Given the description of an element on the screen output the (x, y) to click on. 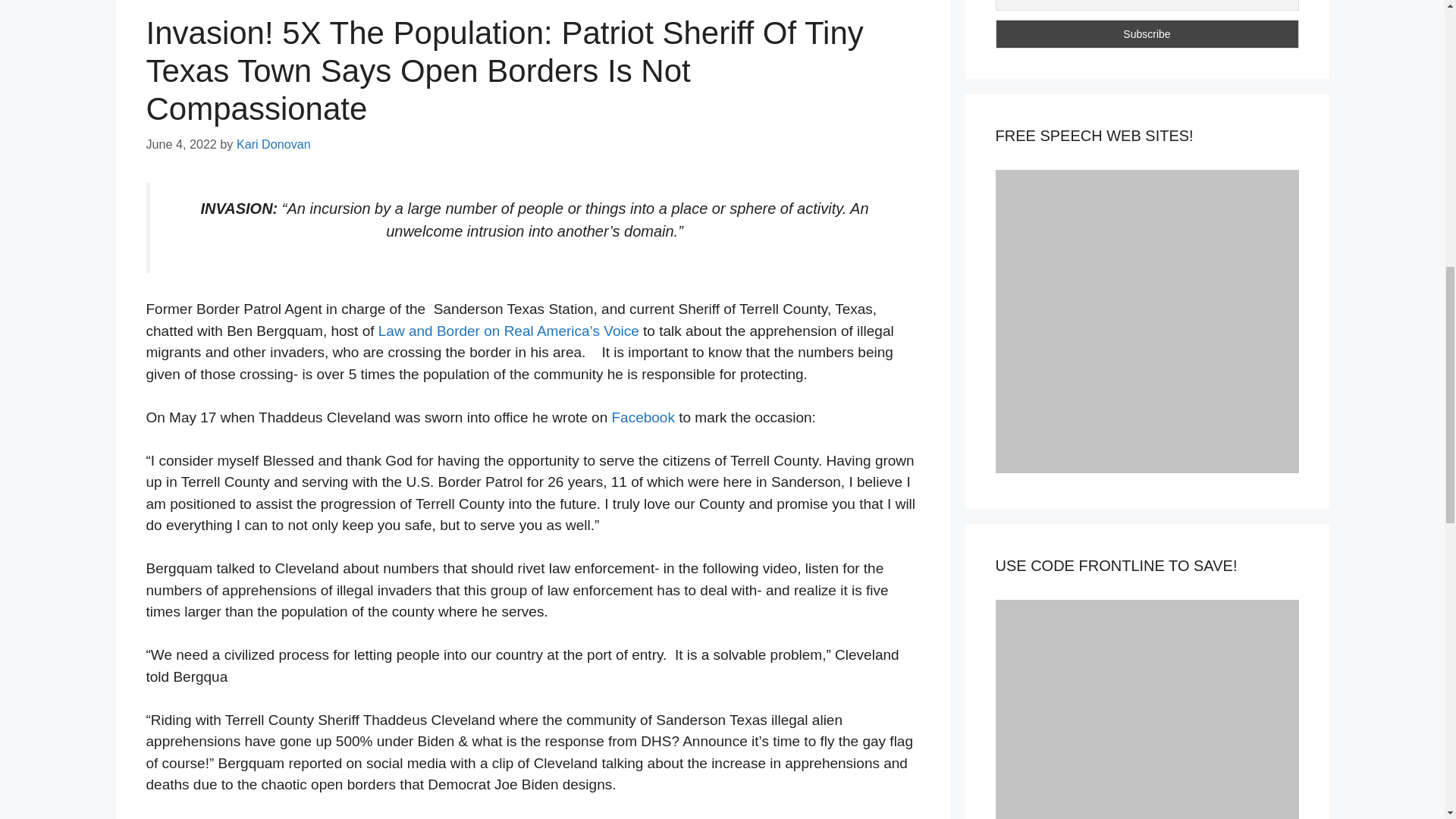
Subscribe (1146, 33)
Facebook (641, 417)
Kari Donovan (273, 143)
View all posts by Kari Donovan (273, 143)
